Given the description of an element on the screen output the (x, y) to click on. 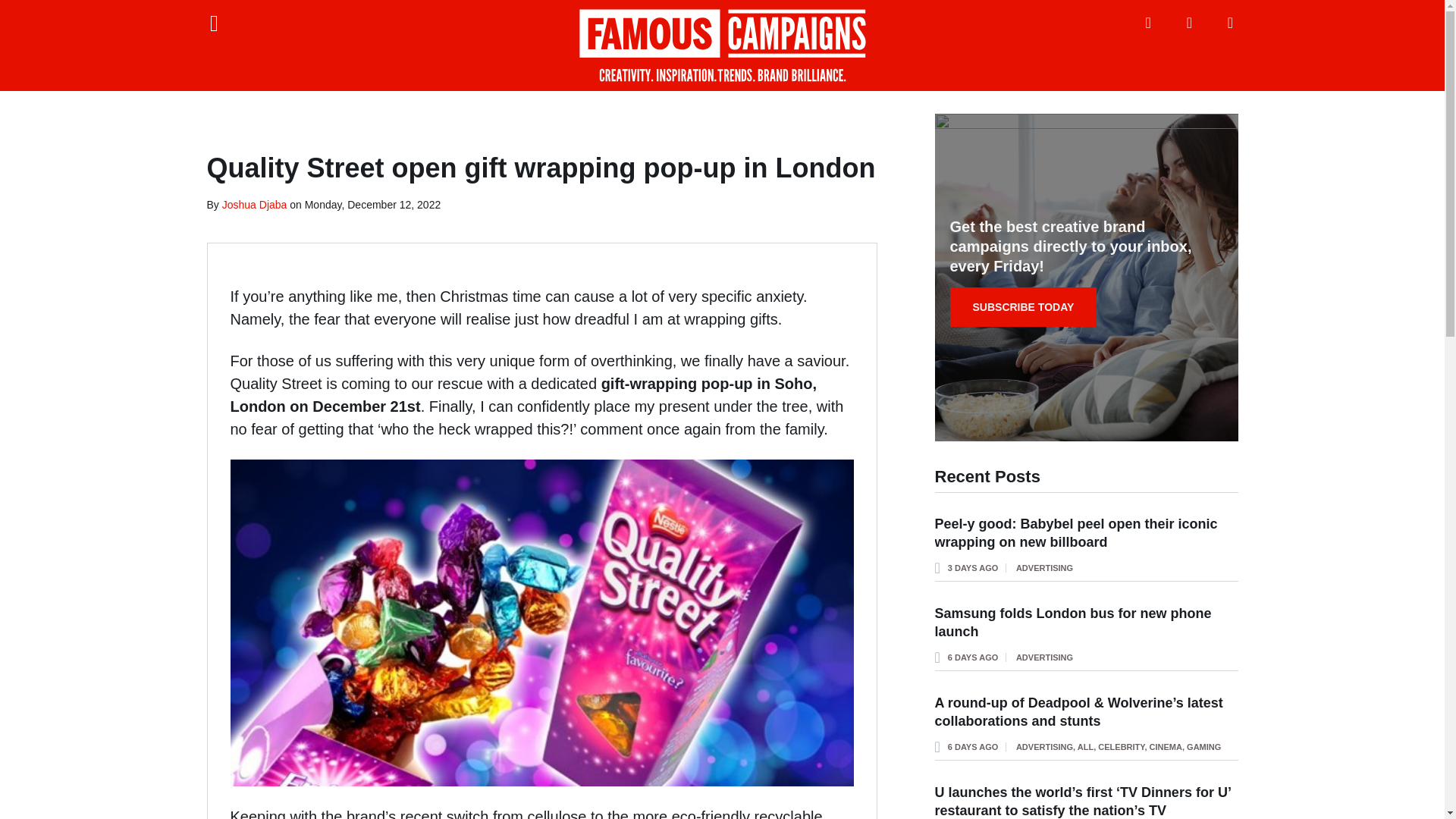
Joshua Djaba (254, 204)
Famous Campaigns (722, 45)
Samsung folds London bus for new phone launch (1072, 622)
Posts by Joshua Djaba (254, 204)
